Given the description of an element on the screen output the (x, y) to click on. 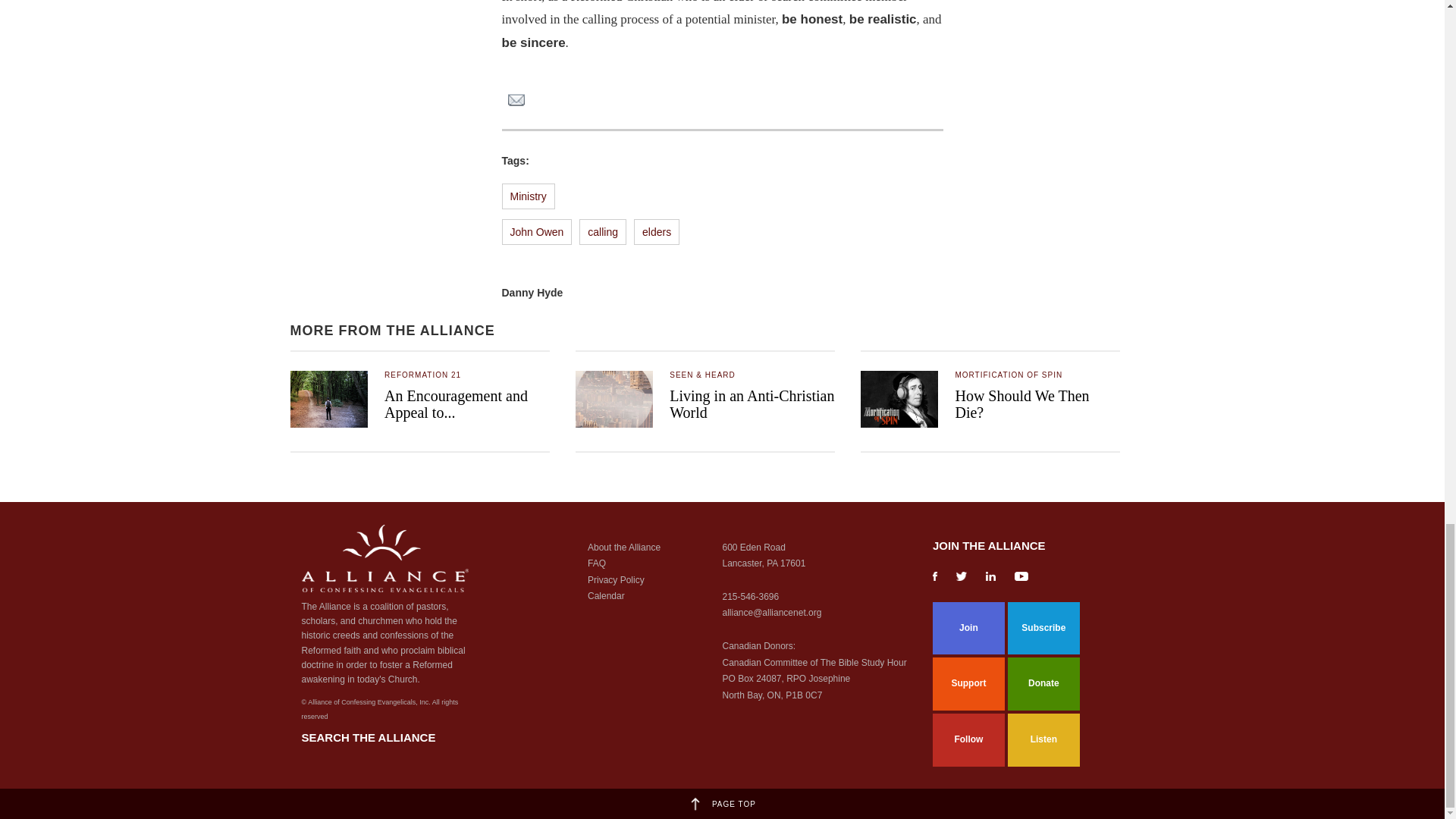
Reformation 21 (422, 375)
Share this page through e-mail. Local e-mail client needed. (516, 101)
An Encouragement and Appeal to... (455, 403)
How Should We Then Die? (1022, 403)
Mortification of Spin (1008, 375)
Living in an Anti-Christian World (751, 403)
